Given the description of an element on the screen output the (x, y) to click on. 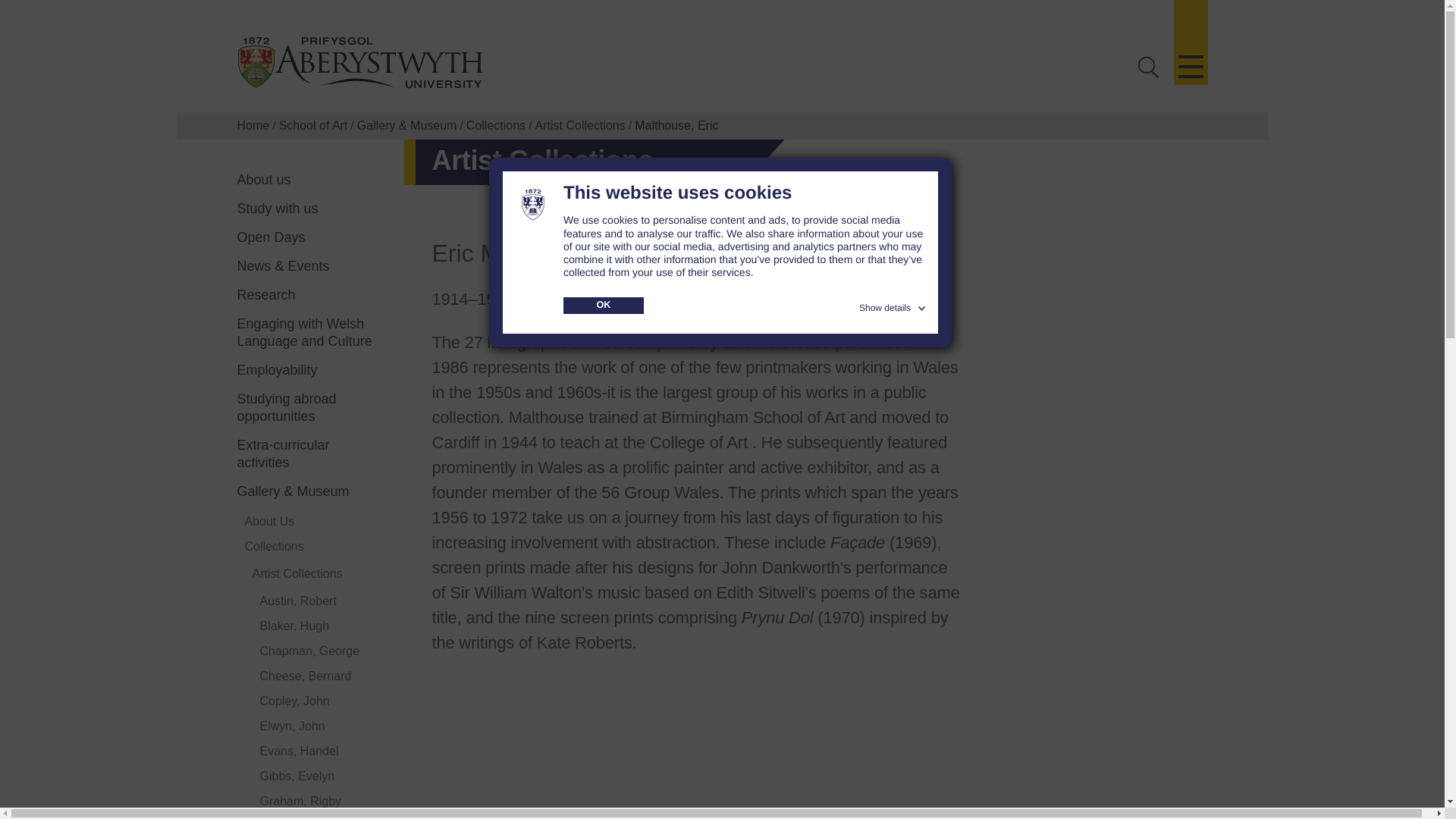
Show details (893, 305)
OK (603, 305)
